Given the description of an element on the screen output the (x, y) to click on. 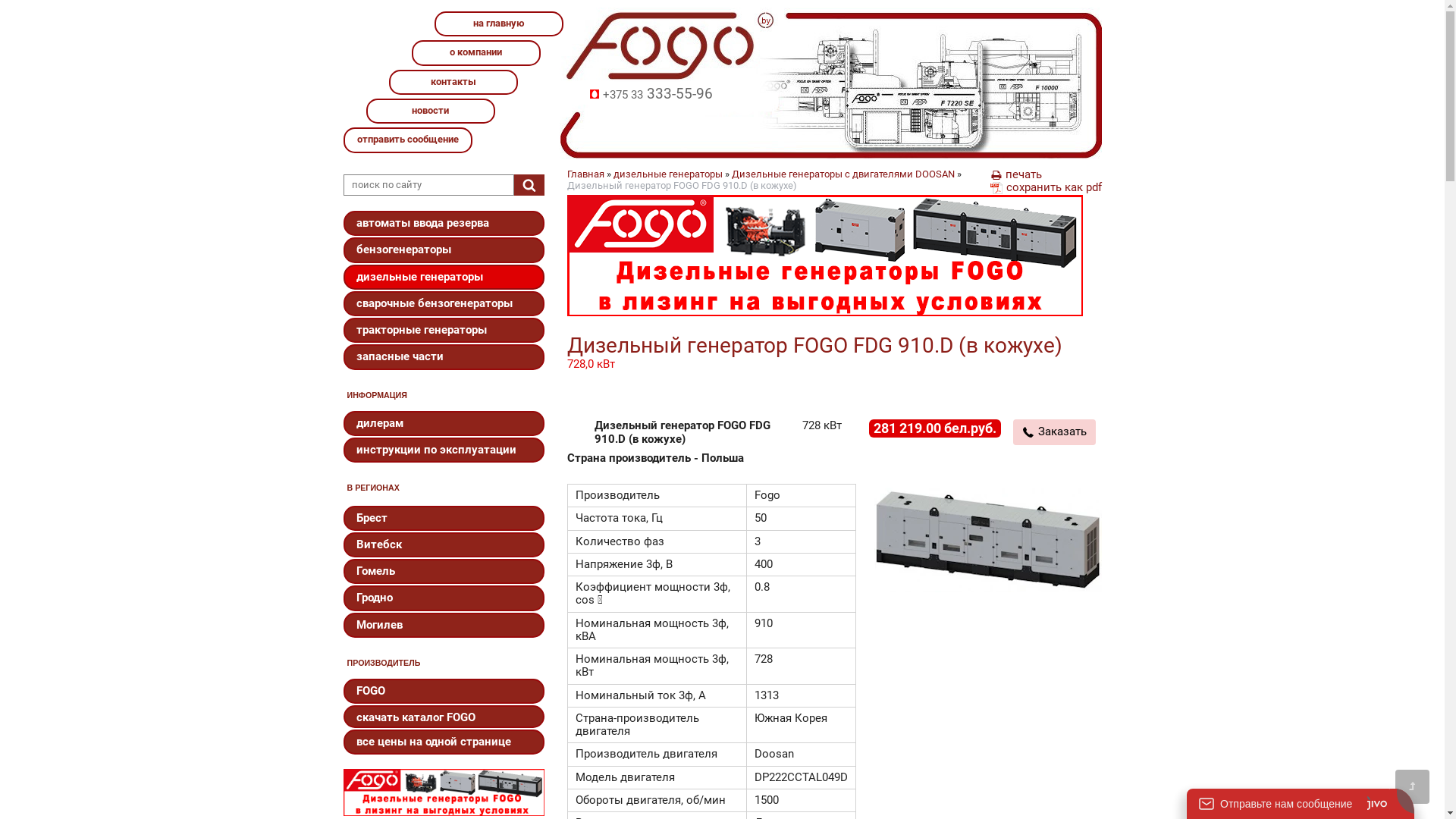
FOGO Element type: text (442, 690)
